Given the description of an element on the screen output the (x, y) to click on. 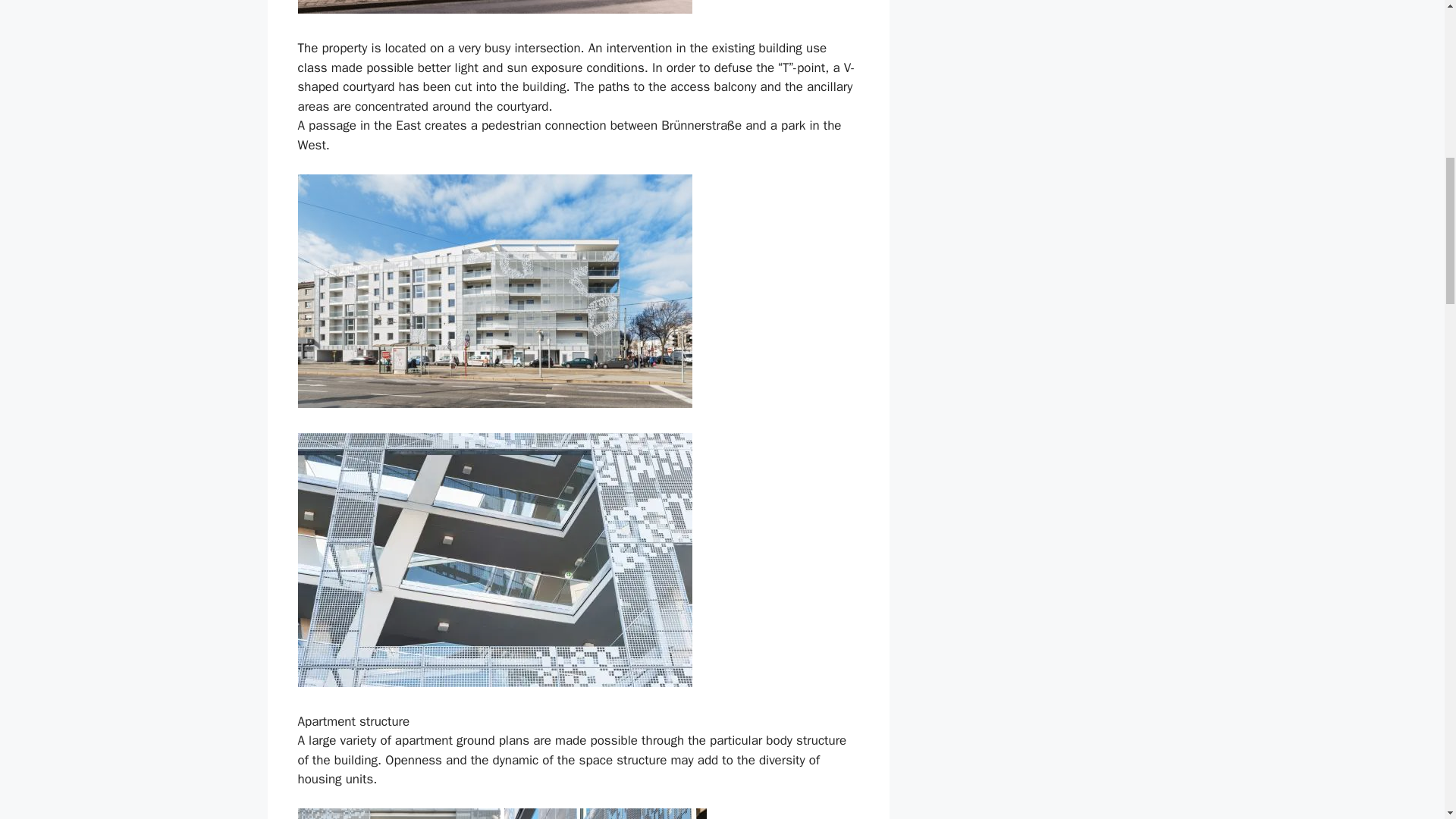
Scroll back to top (1406, 720)
